Given the description of an element on the screen output the (x, y) to click on. 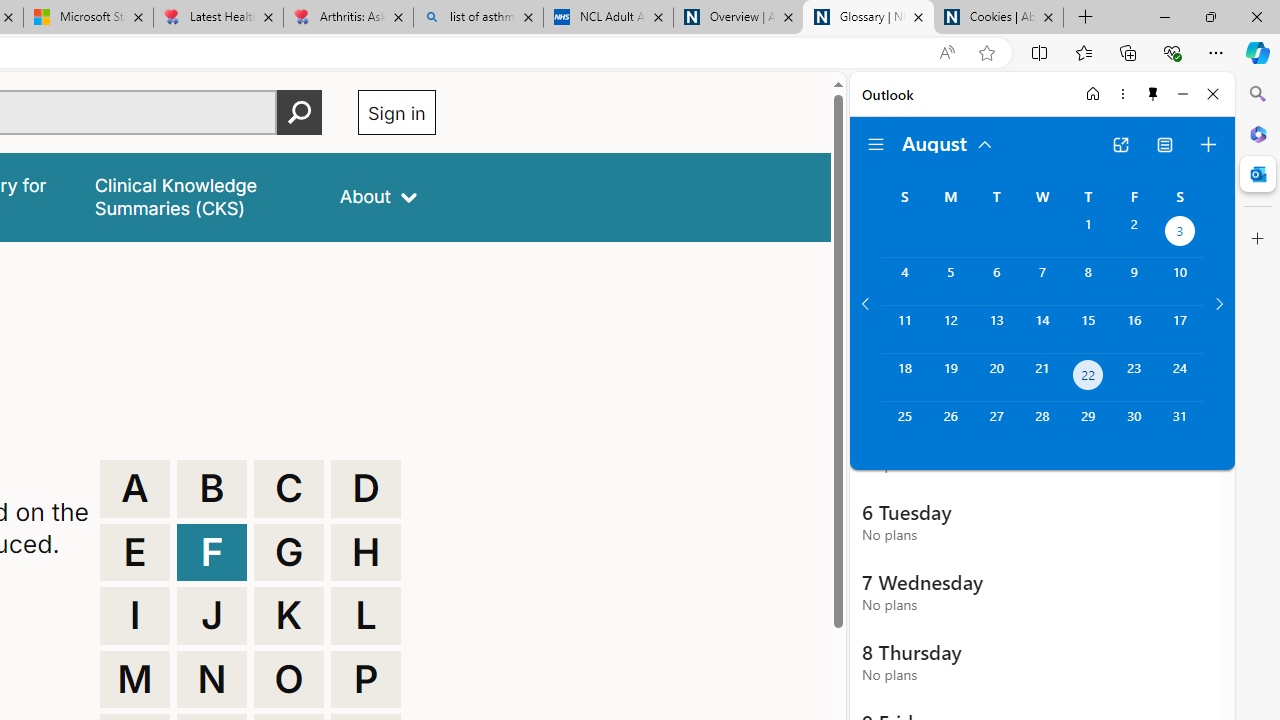
Saturday, August 10, 2024.  (1180, 281)
Sunday, August 11, 2024.  (904, 329)
Thursday, August 22, 2024. Today.  (1088, 377)
Thursday, August 15, 2024.  (1088, 329)
Thursday, August 8, 2024.  (1088, 281)
P (365, 679)
E (134, 551)
Folder navigation (876, 144)
Wednesday, August 14, 2024.  (1042, 329)
Perform search (299, 112)
